Given the description of an element on the screen output the (x, y) to click on. 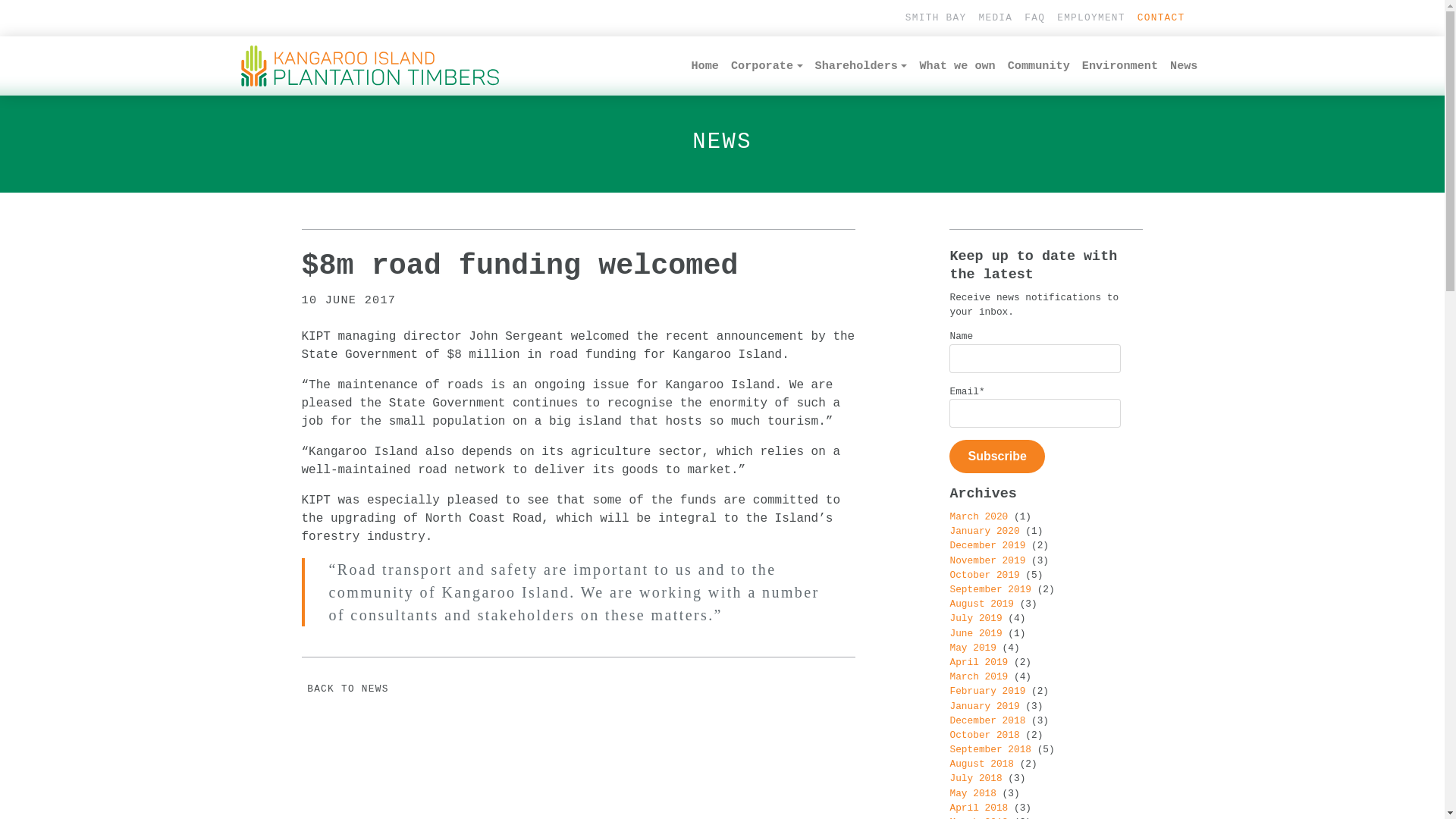
August 2018 Element type: text (981, 763)
March 2020 Element type: text (978, 516)
EMPLOYMENT Element type: text (1091, 18)
Community Element type: text (1038, 65)
BACK TO NEWS Element type: text (345, 688)
FAQ Element type: text (1034, 18)
What we own Element type: text (957, 65)
October 2018 Element type: text (984, 734)
February 2019 Element type: text (987, 690)
December 2018 Element type: text (987, 720)
October 2019 Element type: text (984, 574)
Skip to content Element type: text (0, 91)
Corporate Element type: text (766, 65)
March 2019 Element type: text (978, 676)
Subscribe Element type: text (996, 456)
May 2019 Element type: text (972, 647)
April 2018 Element type: text (978, 807)
January 2020 Element type: text (984, 530)
July 2018 Element type: text (975, 778)
June 2019 Element type: text (975, 633)
August 2019 Element type: text (981, 603)
May 2018 Element type: text (972, 793)
December 2019 Element type: text (987, 545)
CONTACT Element type: text (1161, 18)
September 2018 Element type: text (990, 749)
SMITH BAY Element type: text (935, 18)
MEDIA Element type: text (995, 18)
Shareholders Element type: text (861, 65)
News Element type: text (1183, 65)
Home Element type: text (704, 65)
Environment Element type: text (1120, 65)
November 2019 Element type: text (987, 560)
July 2019 Element type: text (975, 618)
September 2019 Element type: text (990, 589)
January 2019 Element type: text (984, 706)
April 2019 Element type: text (978, 662)
